Given the description of an element on the screen output the (x, y) to click on. 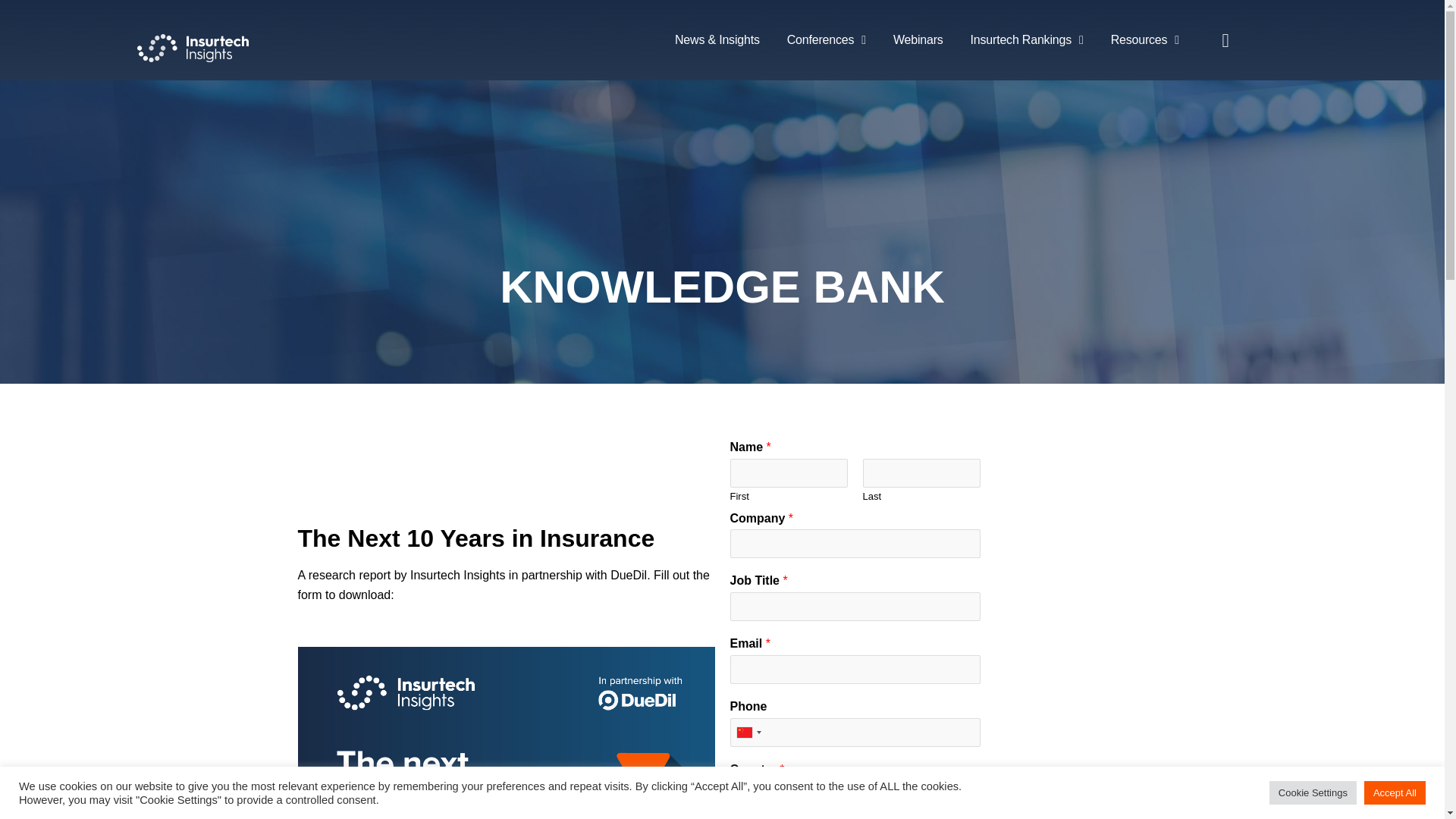
Webinars (917, 39)
Conferences (826, 39)
Resources (1144, 39)
Insurtech Rankings (1026, 39)
